Given the description of an element on the screen output the (x, y) to click on. 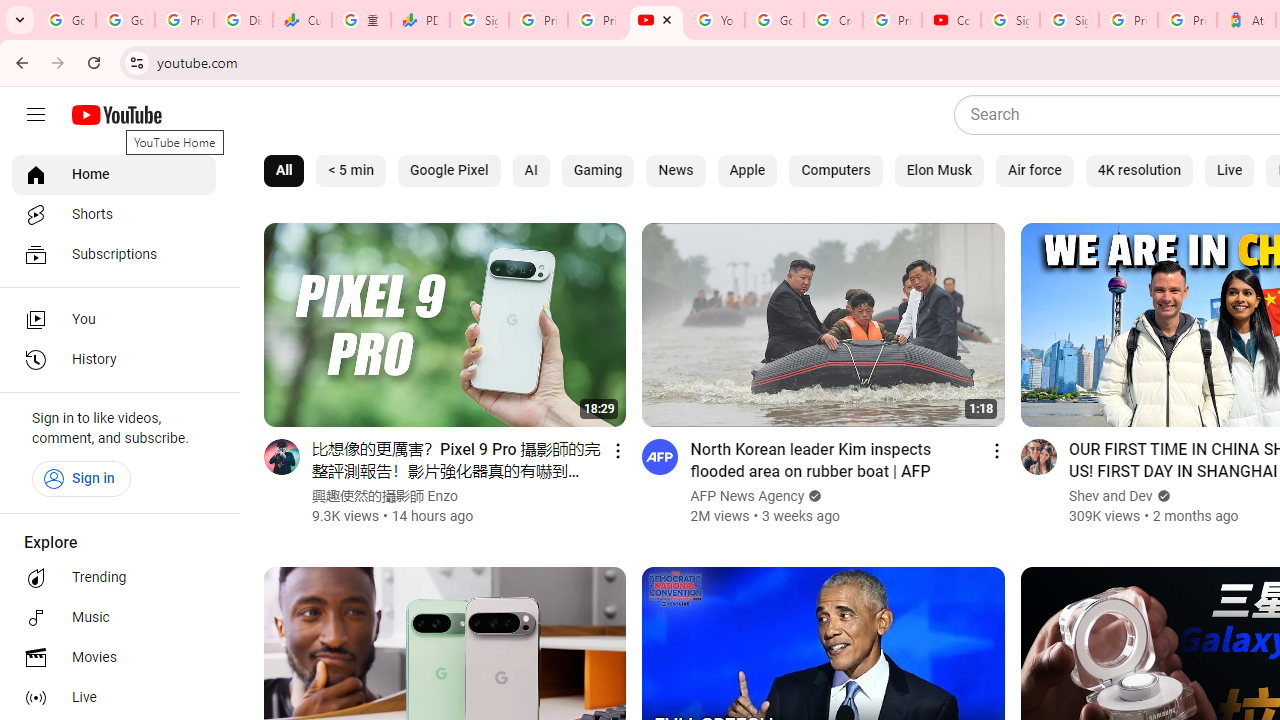
Air force (1033, 170)
Google Pixel (449, 170)
Movies (113, 657)
Google Workspace Admin Community (66, 20)
< 5 min (351, 170)
Apple (747, 170)
Go to channel (1038, 456)
Trending (113, 578)
Elon Musk (938, 170)
Subscriptions (113, 254)
YouTube (656, 20)
Privacy Checkup (597, 20)
